Given the description of an element on the screen output the (x, y) to click on. 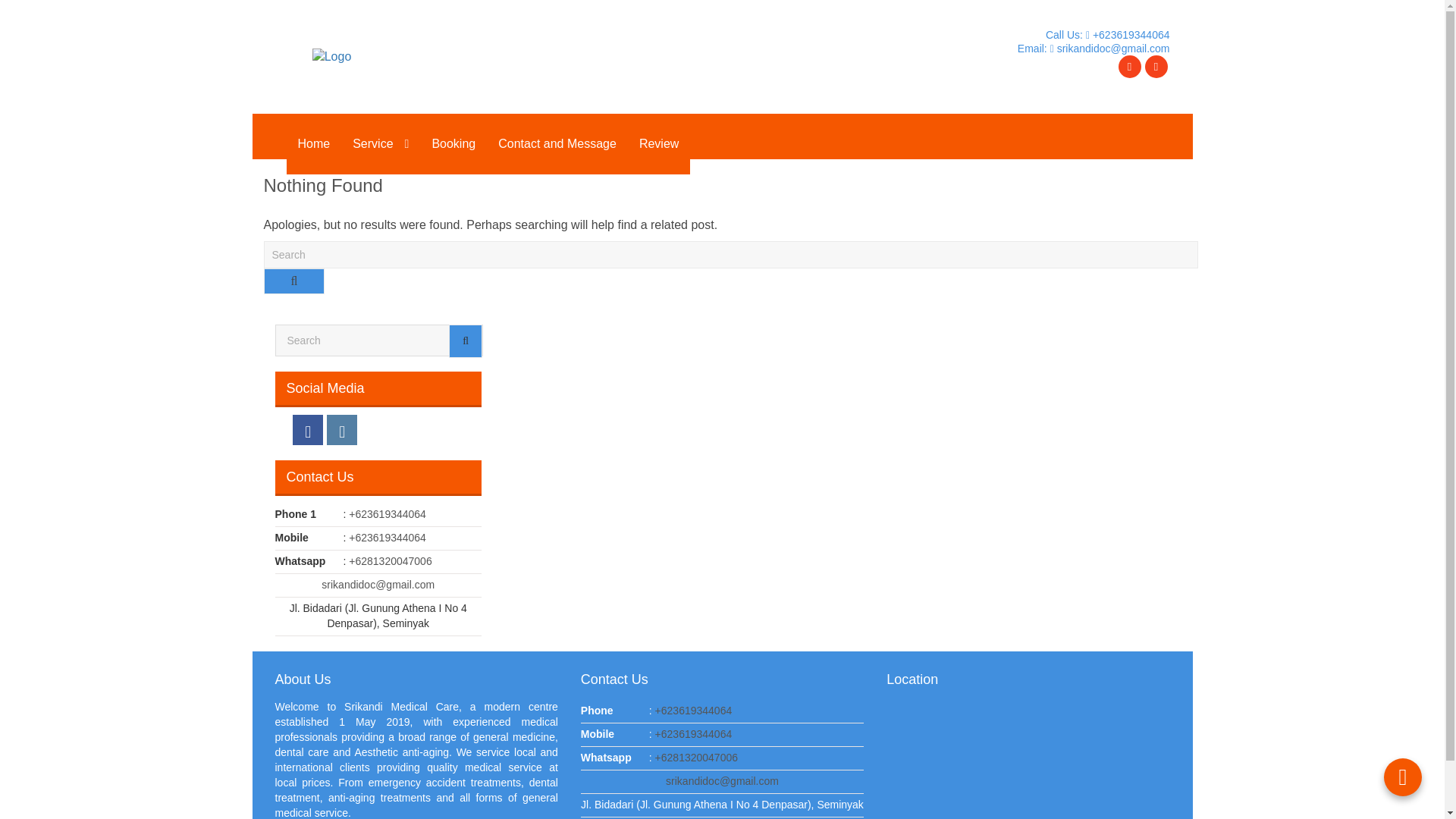
Home (314, 143)
Review (658, 143)
Service (380, 143)
Contact and Message (556, 143)
Booking (453, 143)
